Given the description of an element on the screen output the (x, y) to click on. 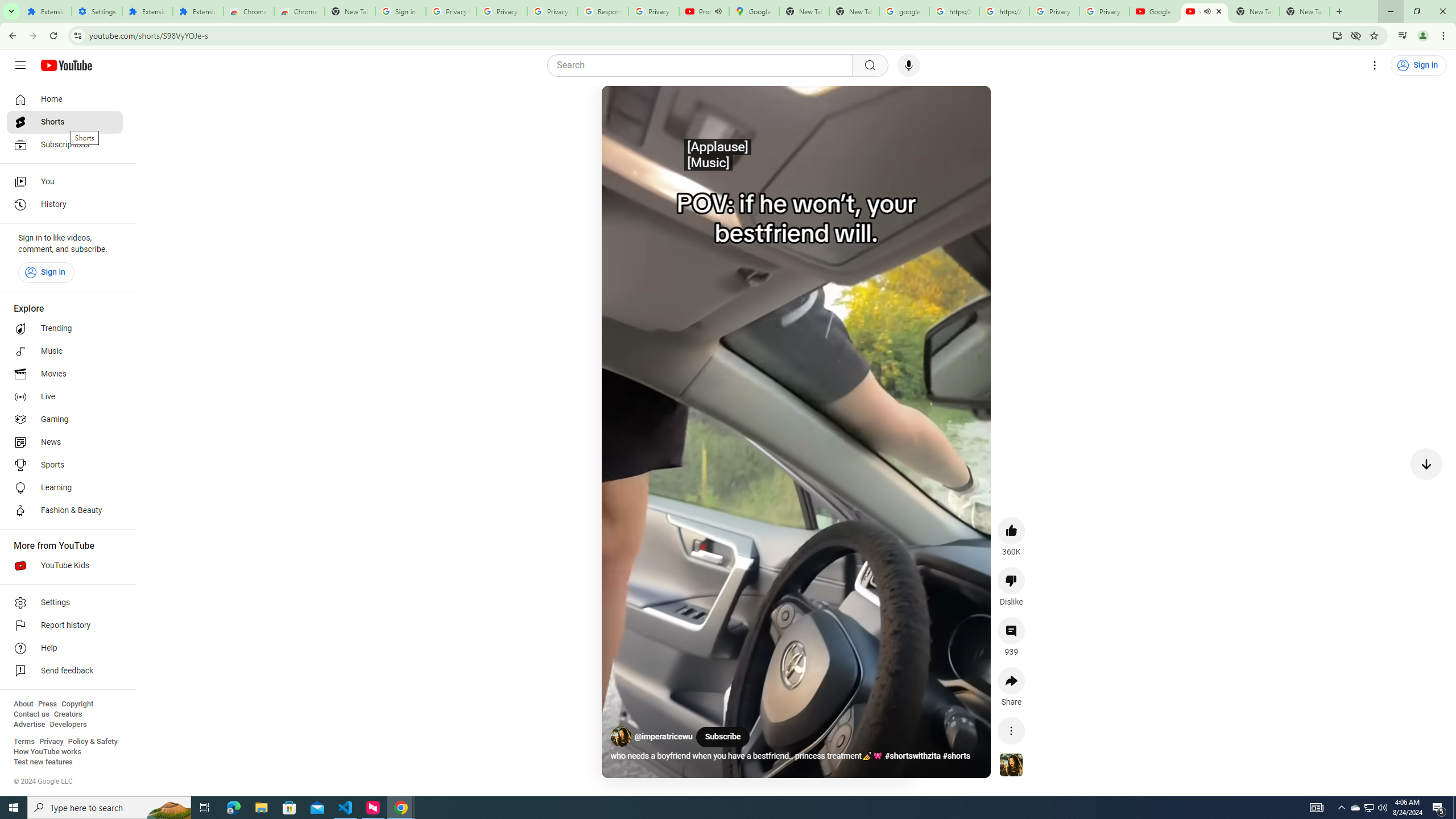
YouTube Kids (64, 565)
Copyright (77, 703)
Share (1011, 680)
Creators (67, 714)
Contact us (31, 714)
More actions (1011, 730)
How YouTube works (47, 751)
Music (64, 350)
Pause (k) (623, 108)
News (64, 441)
Subscriptions (64, 144)
